Given the description of an element on the screen output the (x, y) to click on. 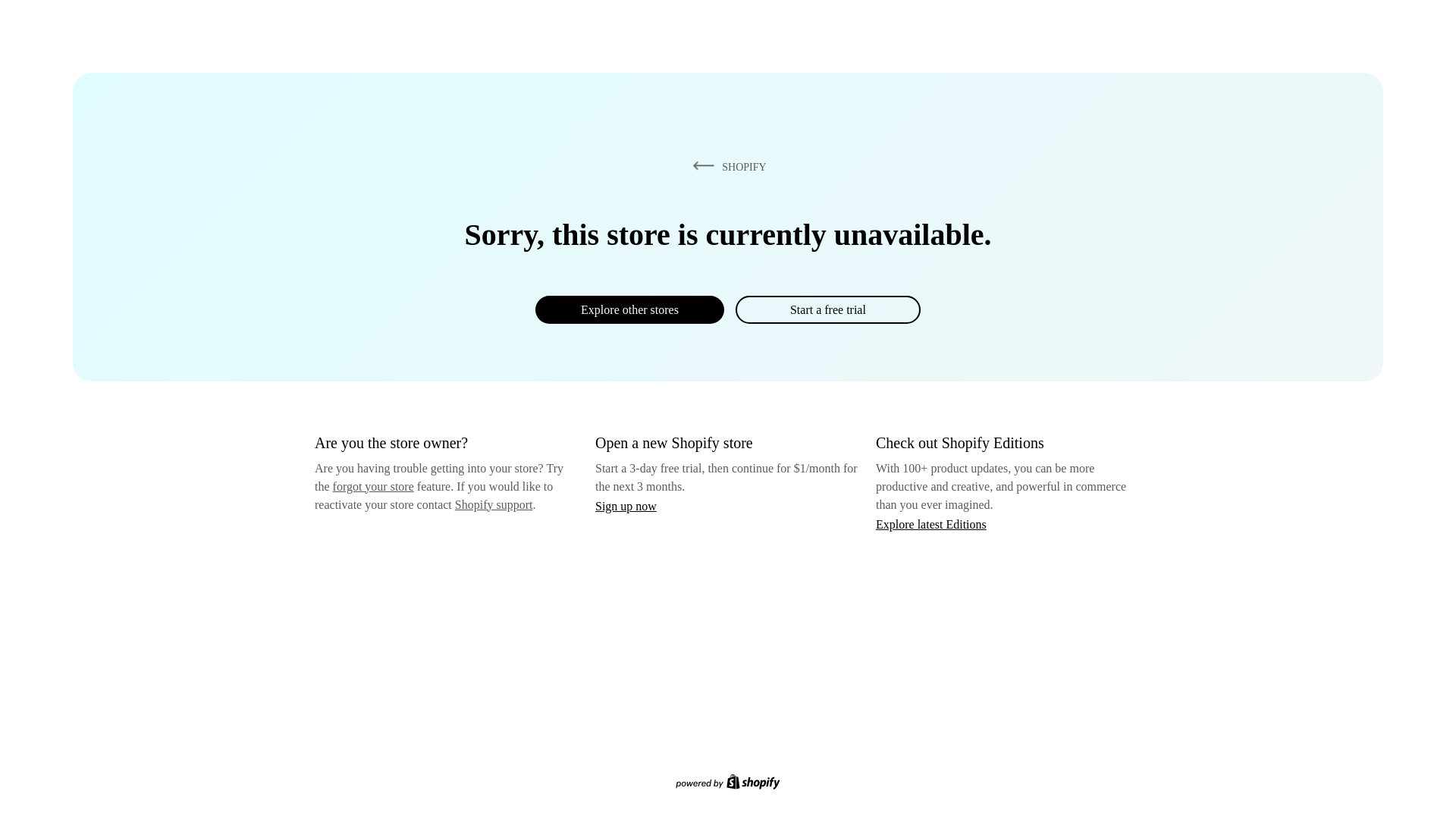
Sign up now (625, 505)
Start a free trial (827, 309)
SHOPIFY (726, 166)
Explore latest Editions (931, 523)
forgot your store (373, 486)
Shopify support (493, 504)
Explore other stores (629, 309)
